Given the description of an element on the screen output the (x, y) to click on. 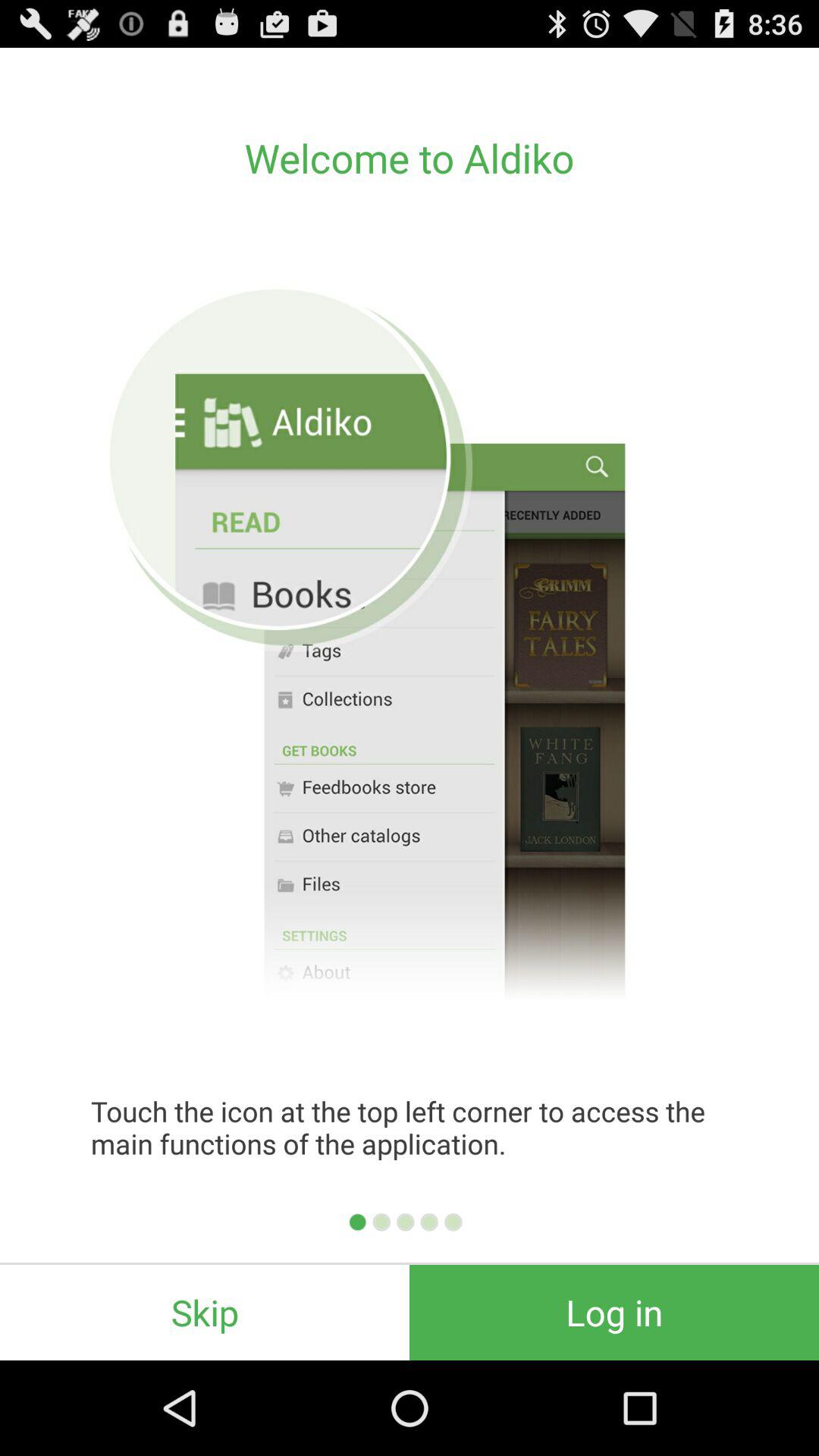
turn on the item at the bottom left corner (204, 1312)
